Given the description of an element on the screen output the (x, y) to click on. 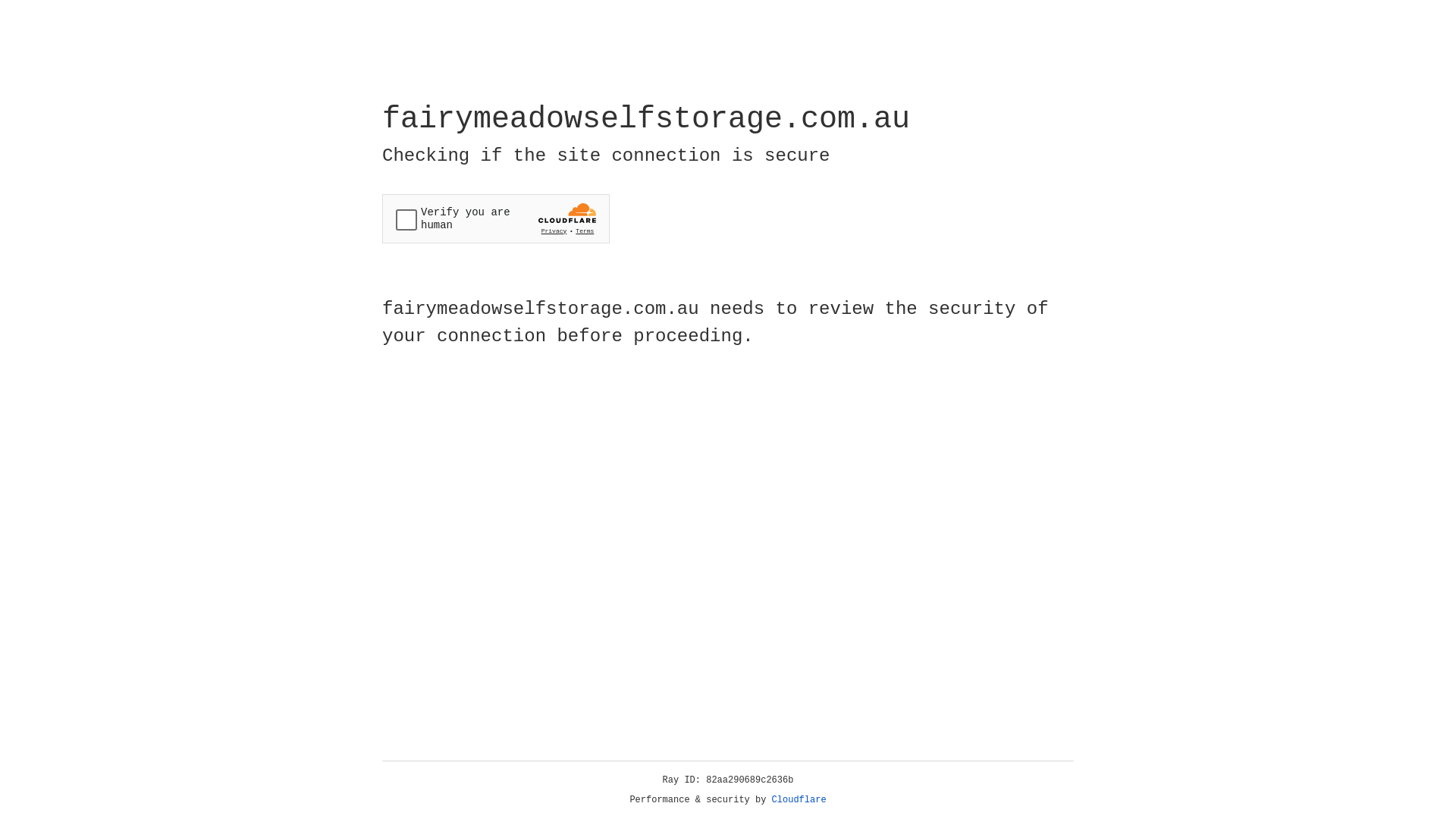
Widget containing a Cloudflare security challenge Element type: hover (495, 218)
Cloudflare Element type: text (798, 799)
